Given the description of an element on the screen output the (x, y) to click on. 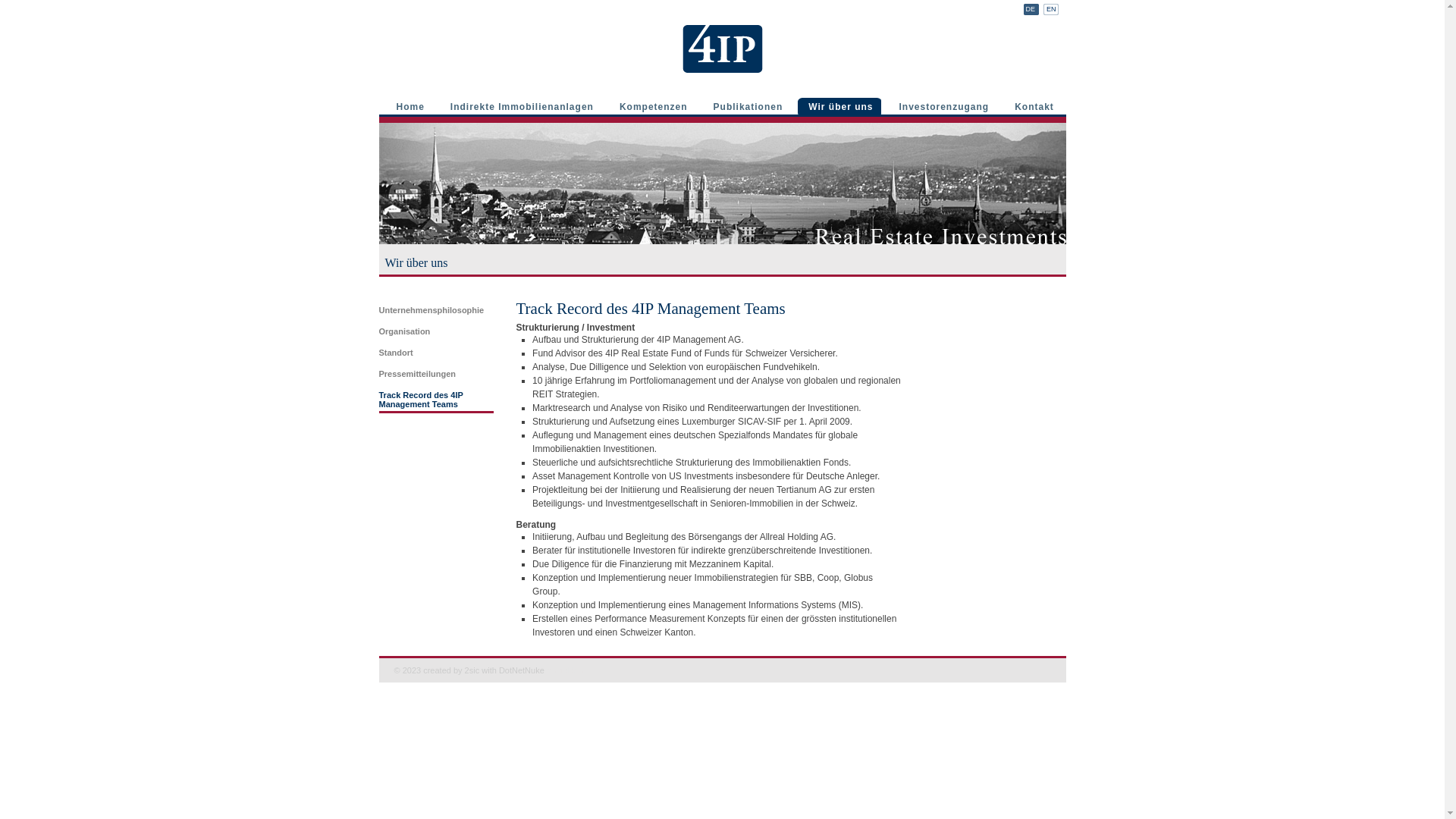
Publikationen Element type: text (746, 105)
created by 2sic Element type: text (451, 669)
Unternehmensphilosophie Element type: text (436, 309)
DotNetNuke Element type: text (521, 669)
Organisation Element type: text (436, 330)
EN Element type: text (1050, 9)
Kontakt Element type: text (1032, 105)
anmelden Element type: text (564, 669)
DE Element type: text (1031, 9)
Indirekte Immobilienanlagen Element type: text (520, 105)
Investorenzugang Element type: text (941, 105)
Kompetenzen Element type: text (651, 105)
Pressemitteilungen Element type: text (436, 373)
Standort Element type: text (436, 352)
Home Element type: text (408, 105)
Home Element type: hover (722, 48)
Track Record des 4IP Management Teams Element type: text (436, 401)
